Given the description of an element on the screen output the (x, y) to click on. 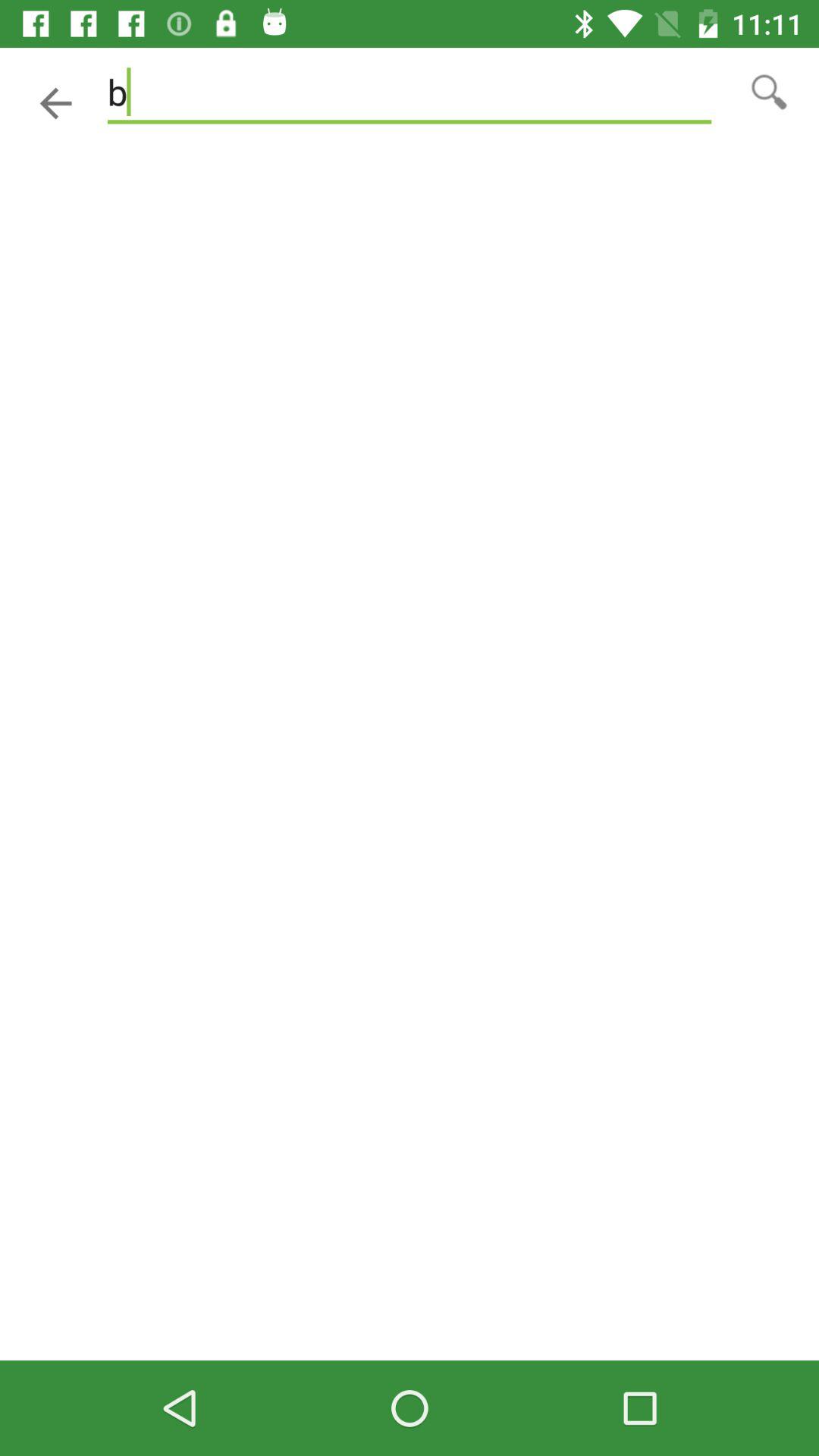
make bigger (769, 91)
